Given the description of an element on the screen output the (x, y) to click on. 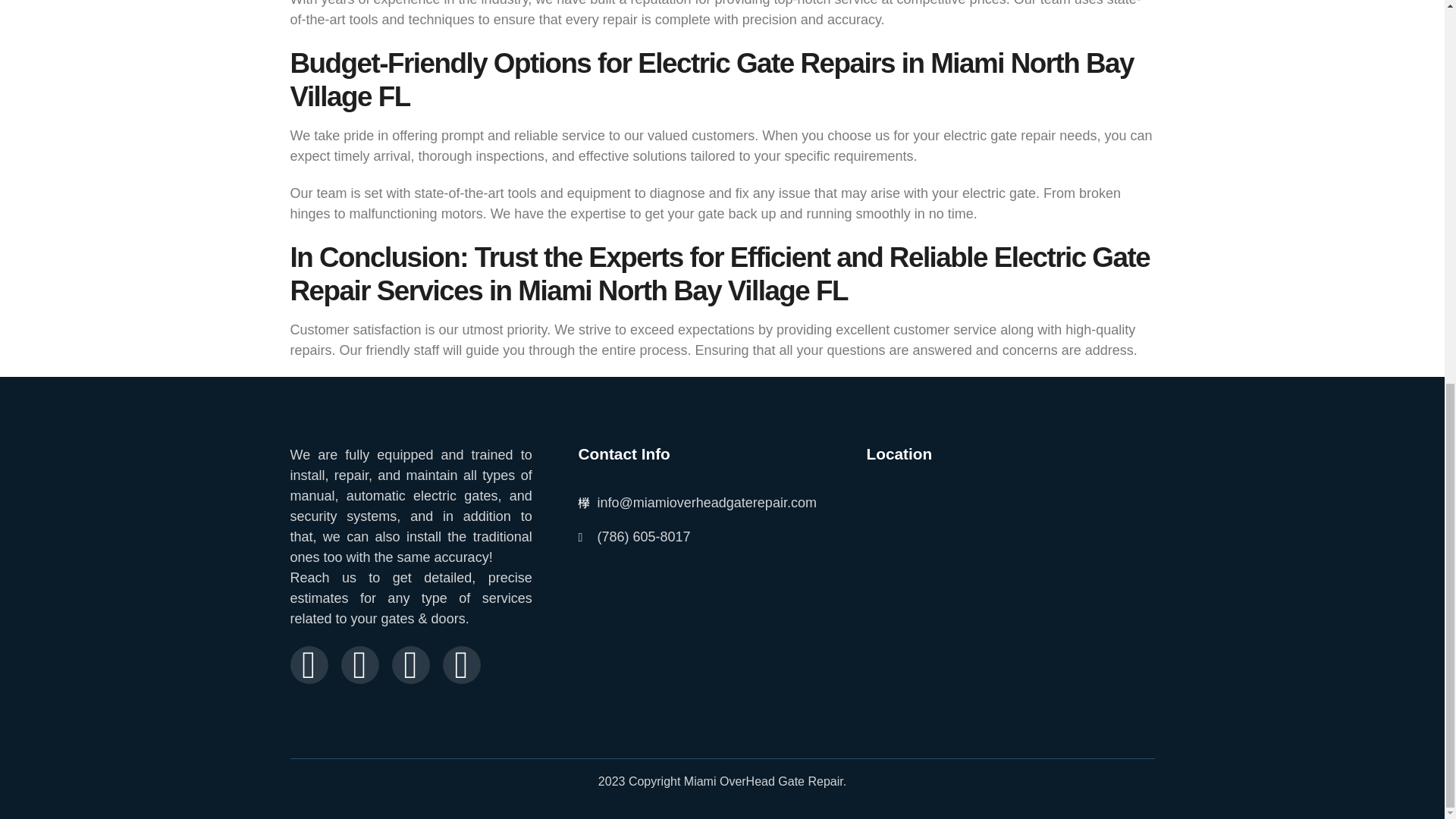
Miami Overheard Gate Repair (1010, 574)
